Given the description of an element on the screen output the (x, y) to click on. 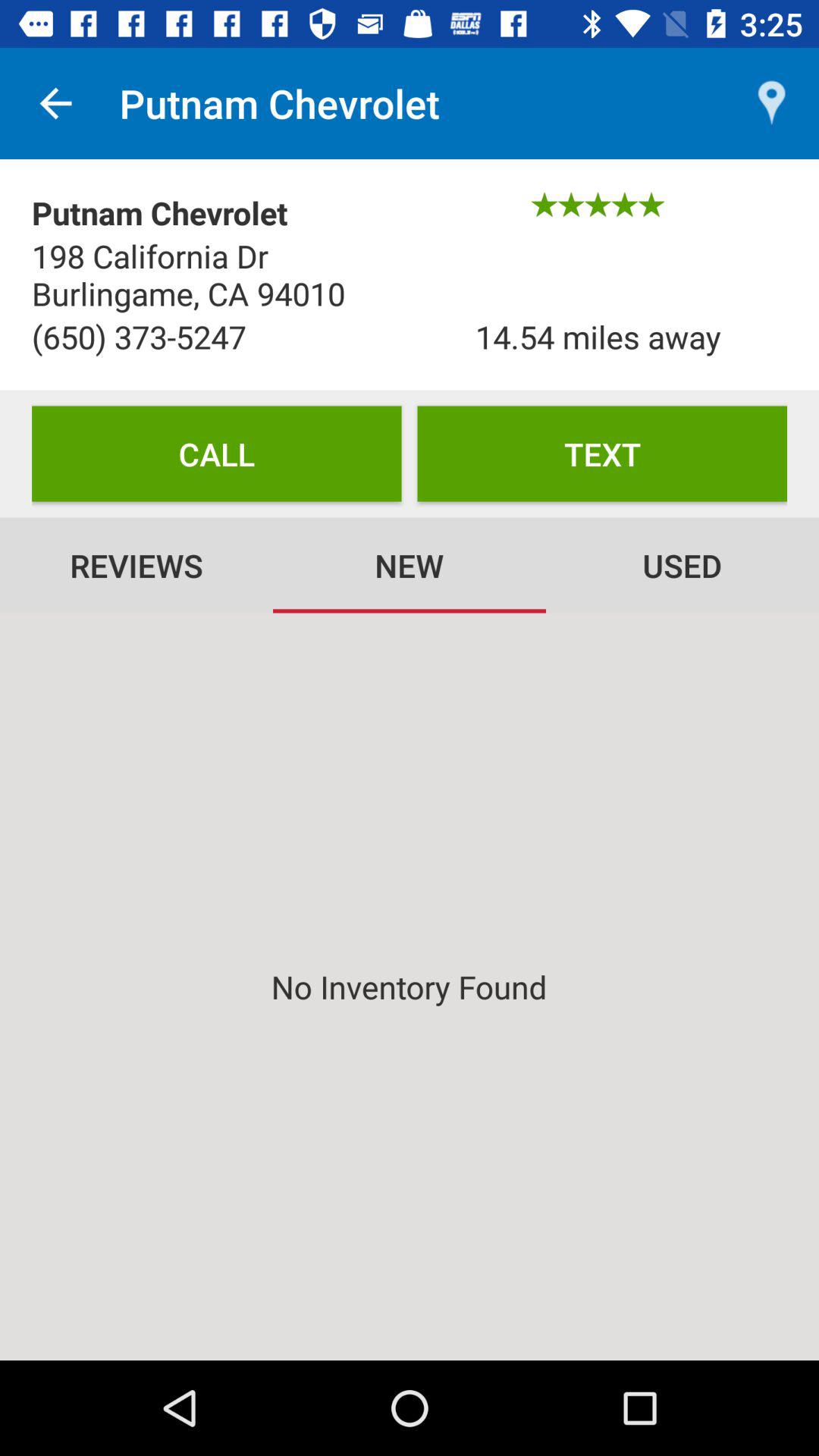
press the icon below the (650) 373-5247 item (216, 453)
